Given the description of an element on the screen output the (x, y) to click on. 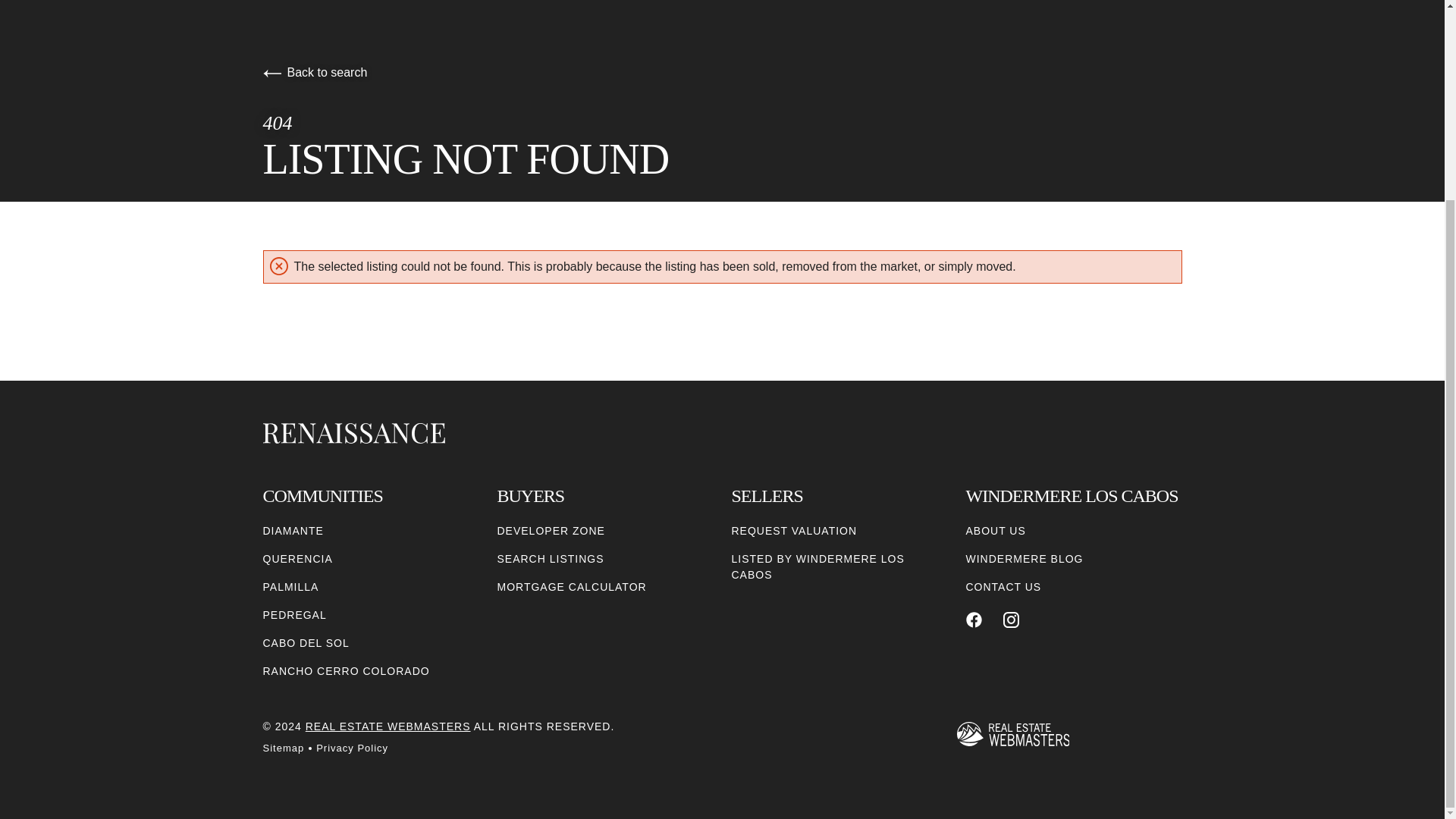
Back to search (314, 72)
PALMILLA (290, 587)
DIAMANTE (292, 530)
FACEBOOK (973, 619)
QUERENCIA (296, 559)
